Given the description of an element on the screen output the (x, y) to click on. 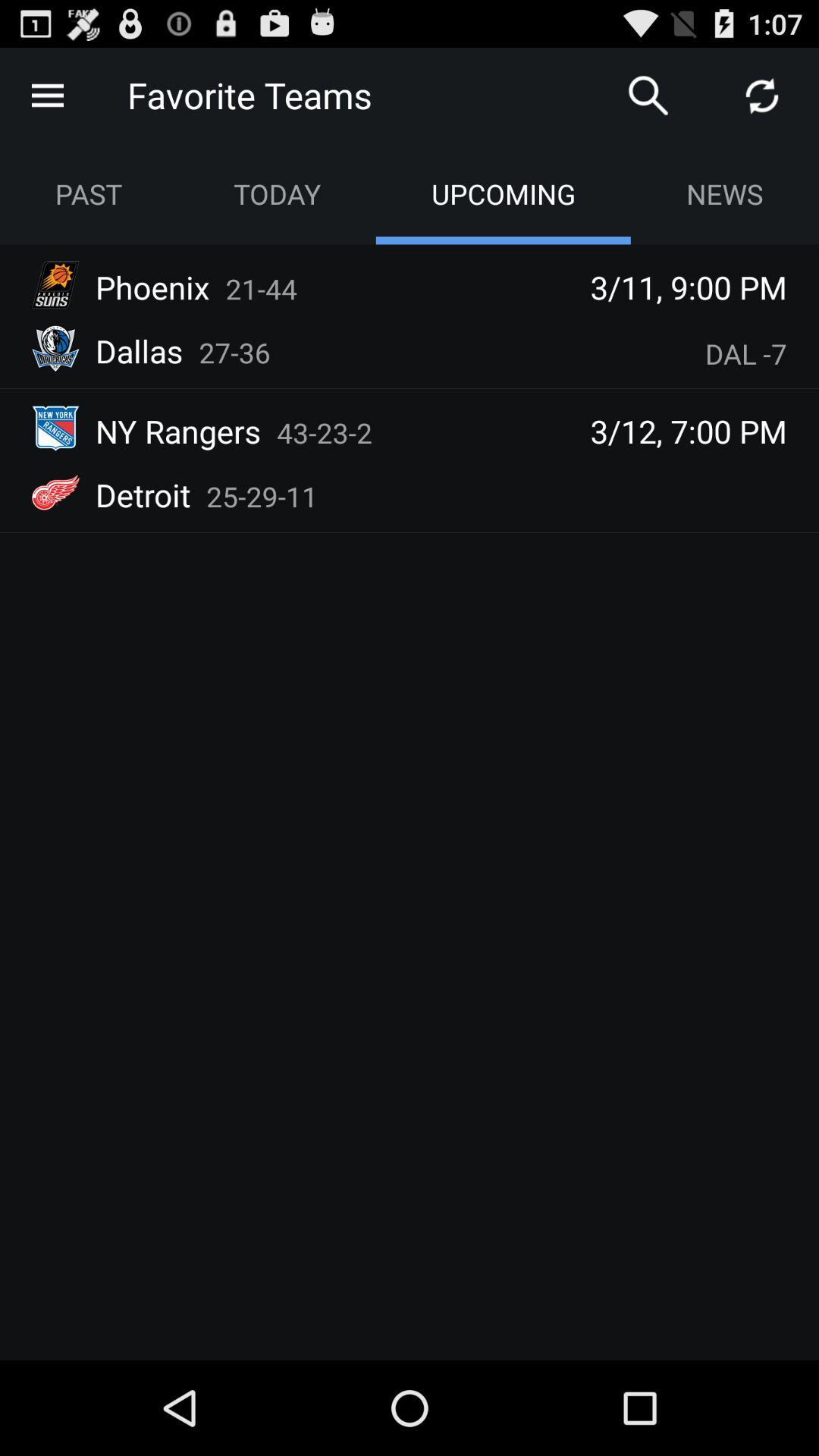
choose app next to the past (276, 193)
